Given the description of an element on the screen output the (x, y) to click on. 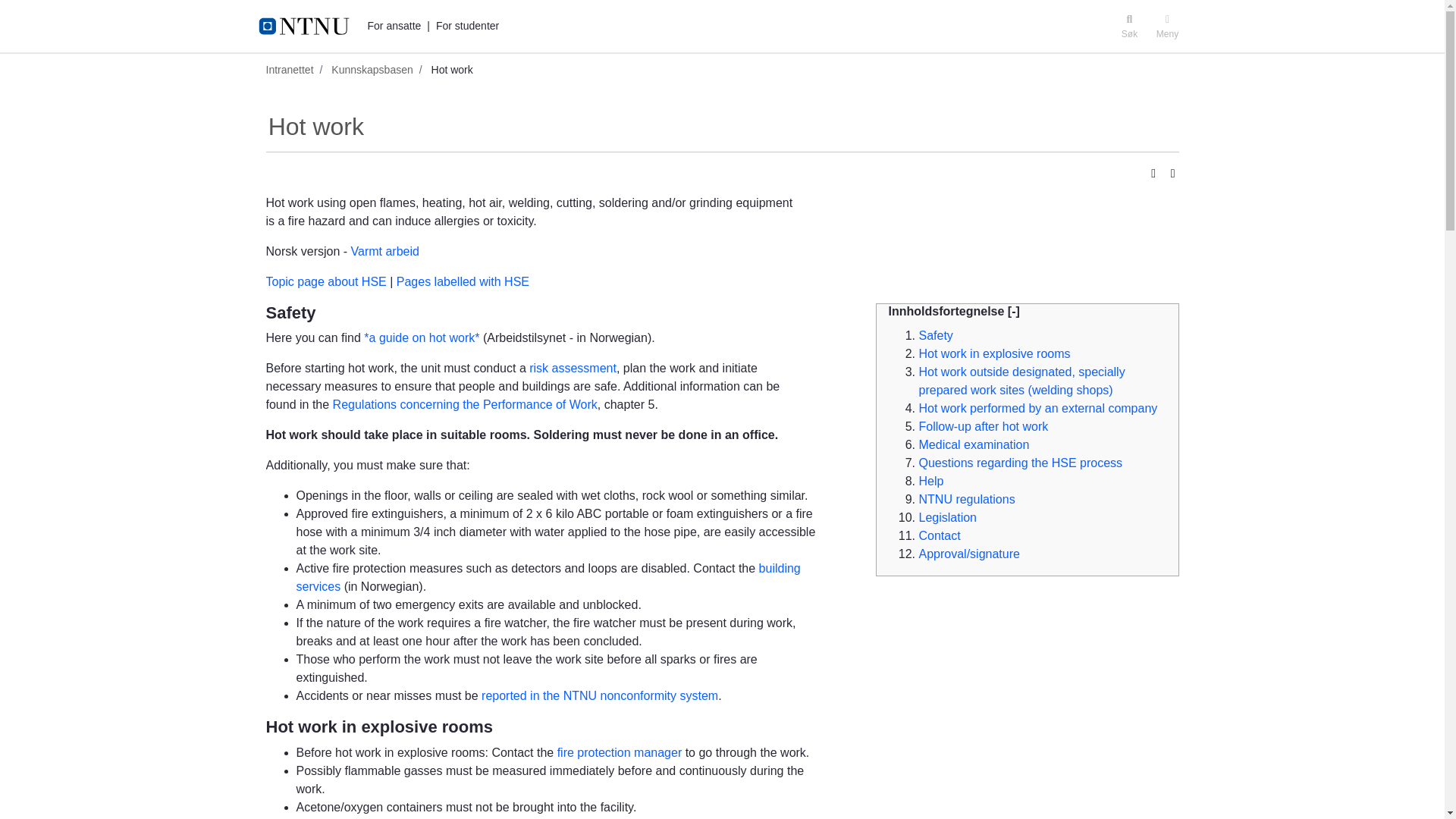
Meny (1167, 26)
i.ntnu.no (309, 26)
For studenter (467, 25)
For ansatte (393, 25)
